Given the description of an element on the screen output the (x, y) to click on. 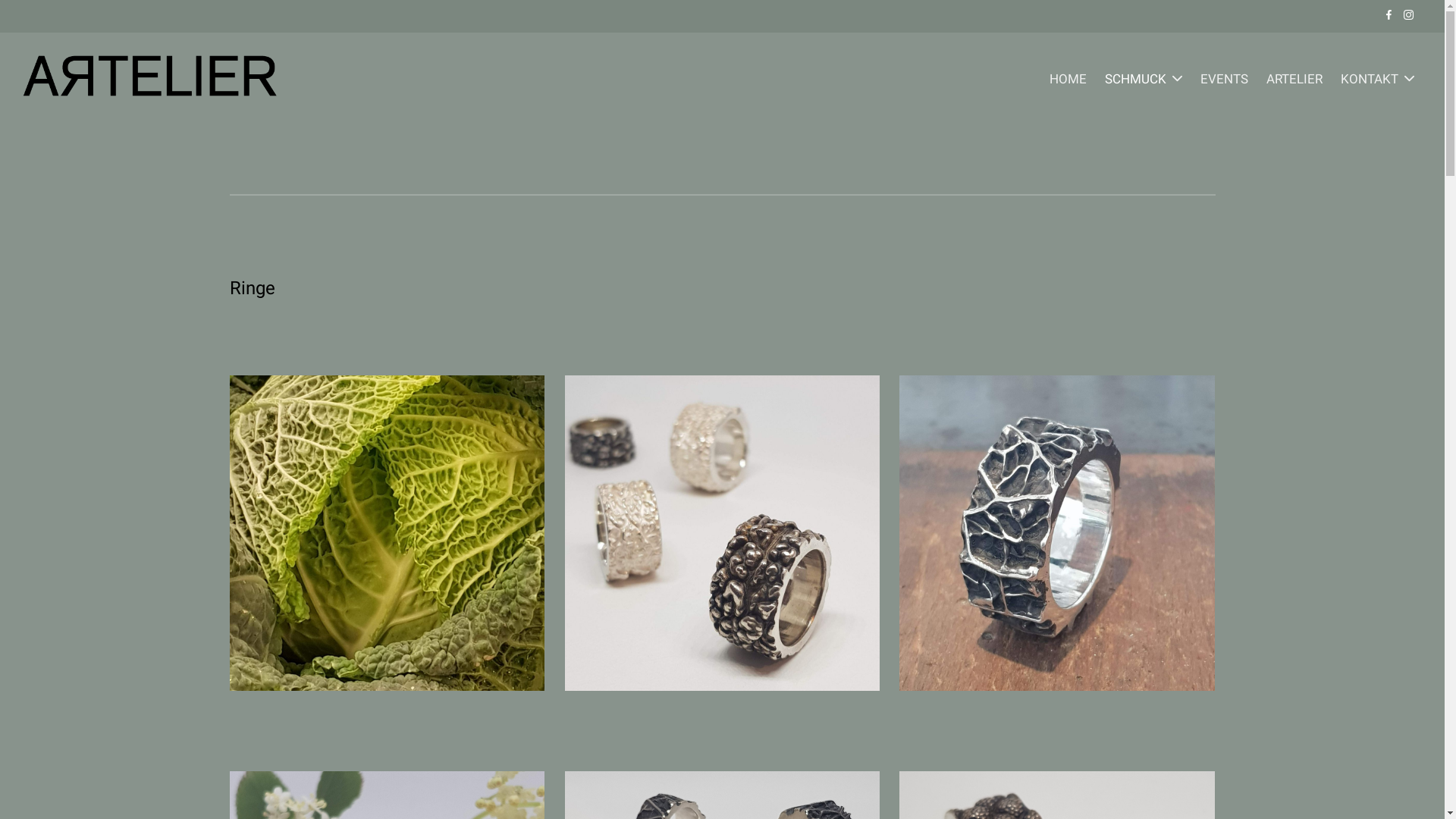
Wirsing Element type: hover (386, 532)
Wirsing Blattoberseite Element type: hover (721, 532)
ARTELIER Element type: text (1294, 78)
Wirsing Blattunterseite Element type: hover (1056, 532)
EVENTS Element type: text (1223, 78)
HOME Element type: text (1067, 78)
